Given the description of an element on the screen output the (x, y) to click on. 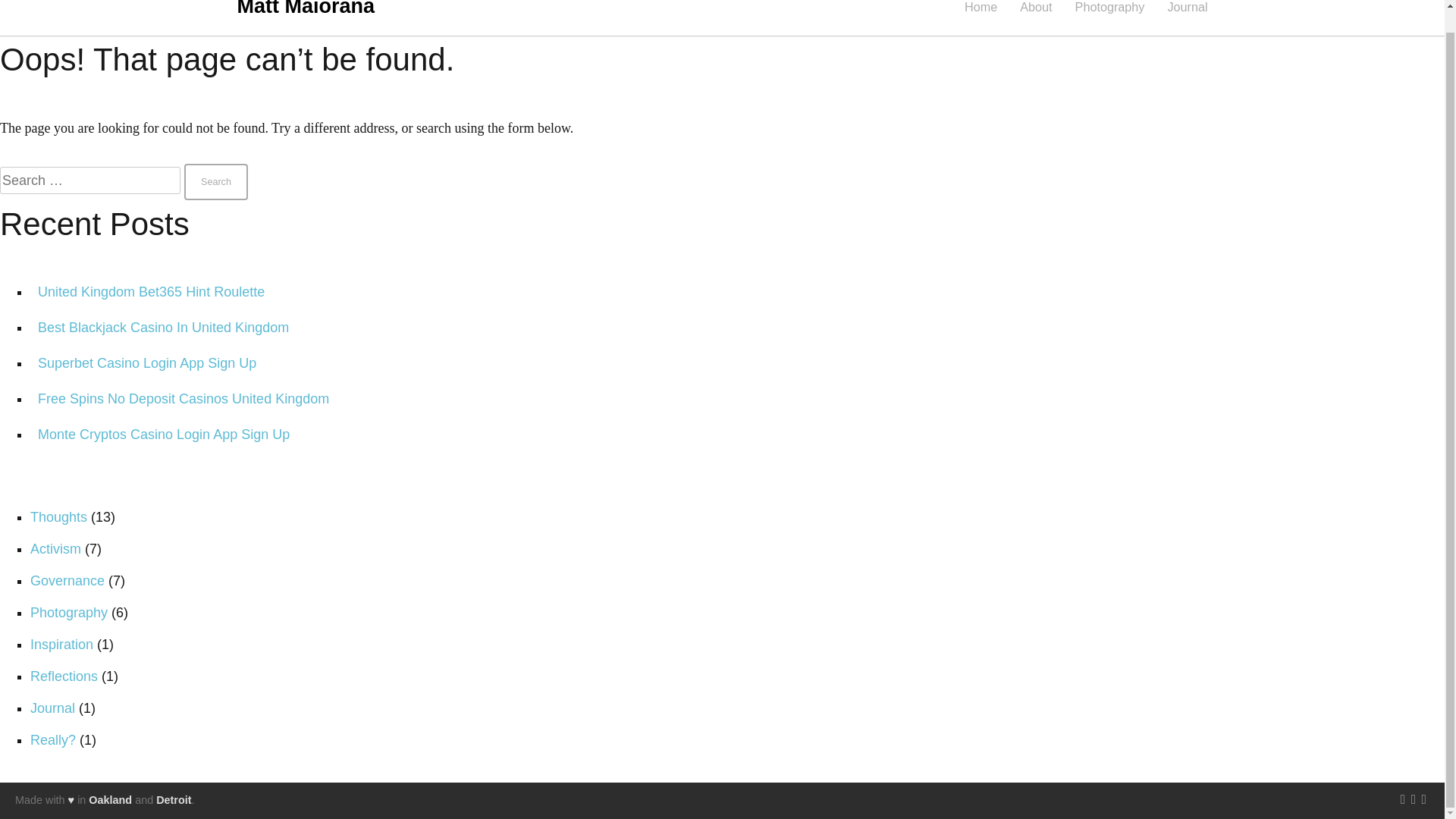
Free Spins No Deposit Casinos United Kingdom (183, 398)
United Kingdom Bet365 Hint Roulette (150, 291)
Thoughts (58, 516)
Really? (52, 739)
Search (215, 181)
Home (980, 6)
Inspiration (61, 644)
Matt Maiorana (304, 8)
Reflections (63, 676)
Search (215, 181)
